Given the description of an element on the screen output the (x, y) to click on. 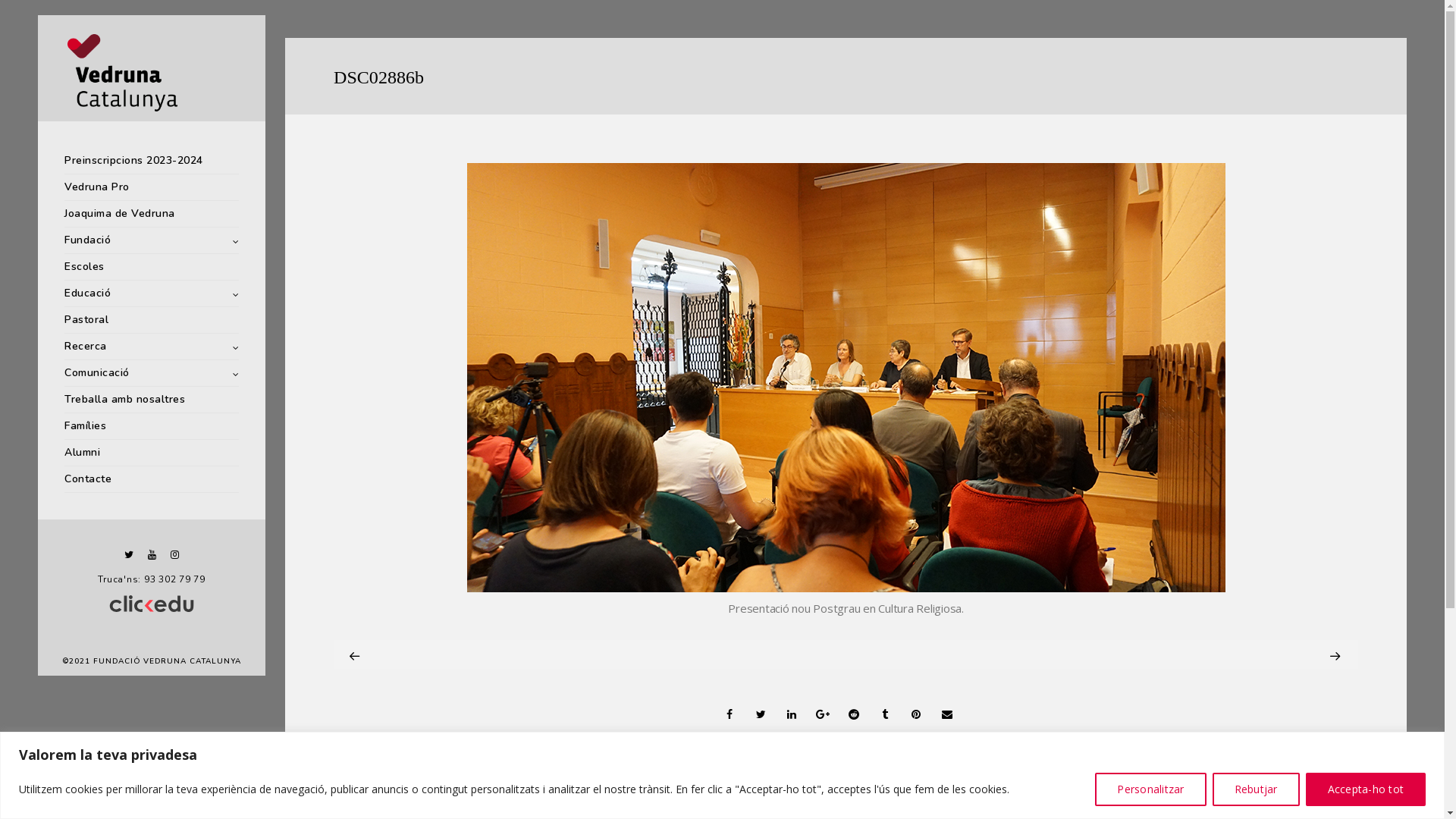
Alumni Element type: text (151, 452)
Vedruna Pro Element type: text (151, 187)
Instagram Element type: hover (174, 554)
Joaquima de Vedruna Element type: text (151, 213)
Accepta-ho tot Element type: text (1365, 788)
Contacte Element type: text (151, 479)
Rebutjar Element type: text (1255, 788)
Personalitzar Element type: text (1150, 788)
Treballa amb nosaltres Element type: text (151, 399)
Pastoral Element type: text (151, 320)
Escoles Element type: text (151, 267)
Preinscripcions 2023-2024 Element type: text (151, 160)
Twitter Element type: hover (128, 554)
Recerca Element type: text (151, 346)
Youtube Element type: hover (151, 554)
Truca'ns: 93 302 79 79 Element type: text (151, 579)
